Given the description of an element on the screen output the (x, y) to click on. 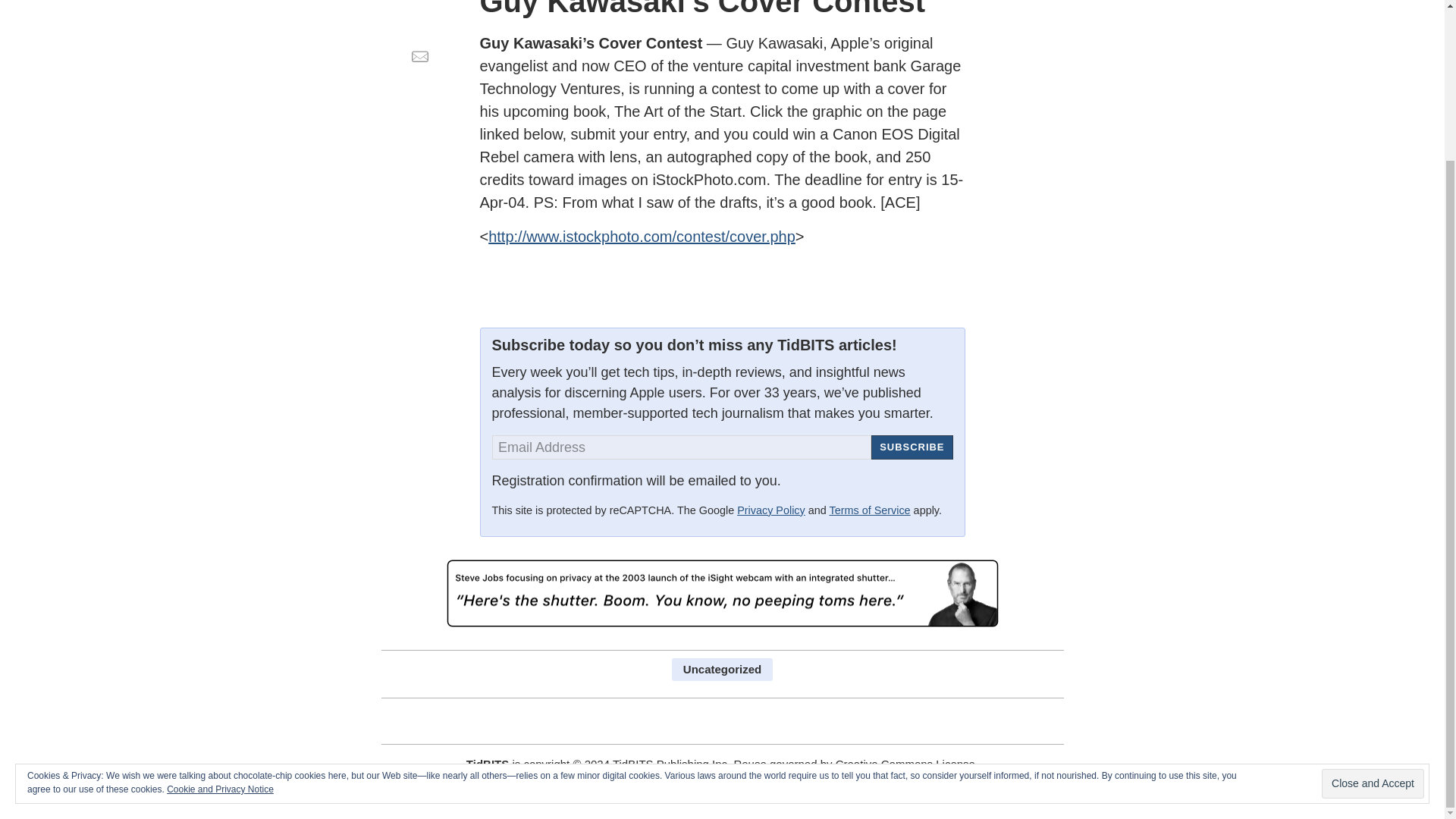
Click to email a link to a friend (419, 56)
Close and Accept (1372, 594)
